Given the description of an element on the screen output the (x, y) to click on. 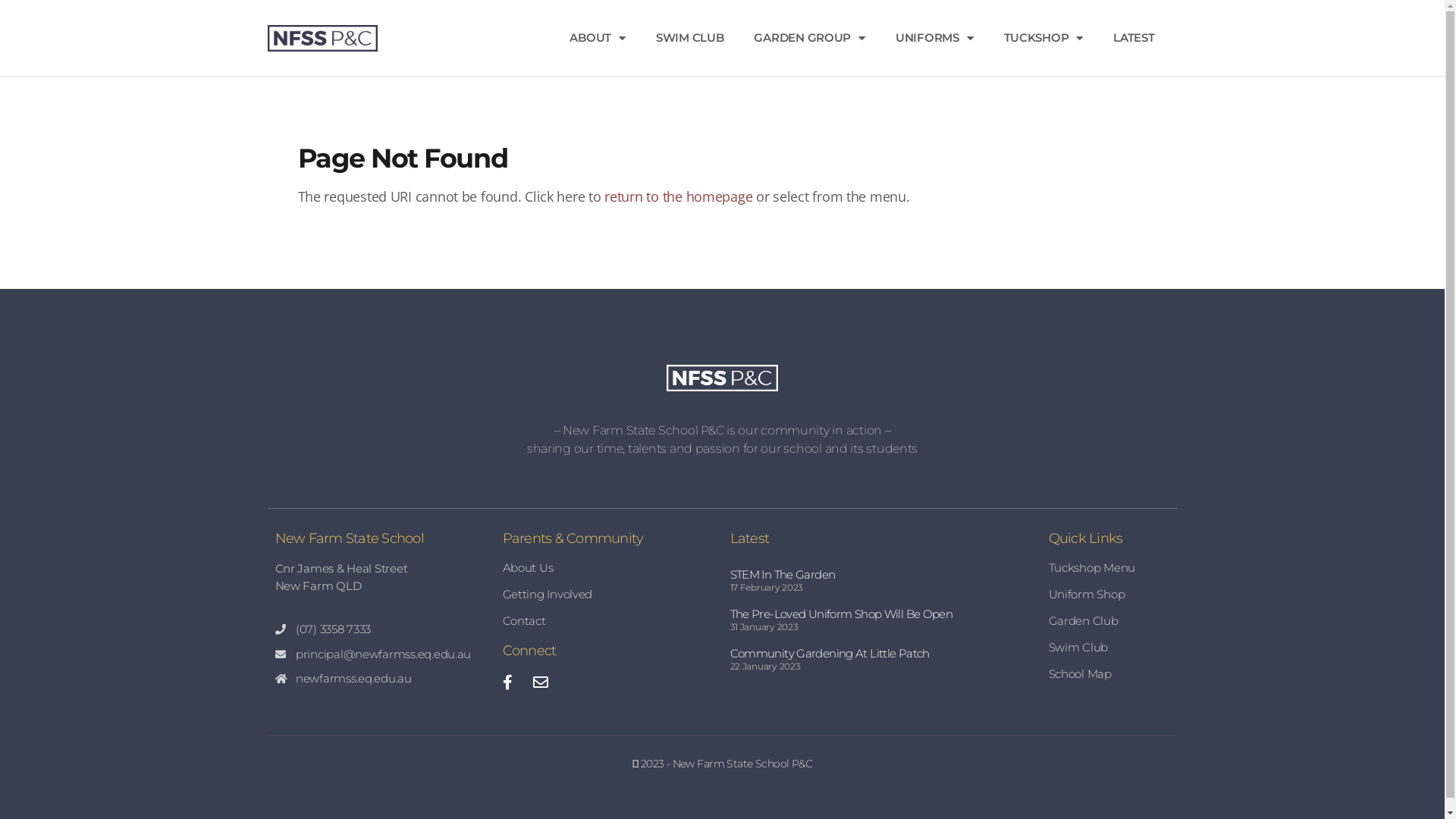
Tuckshop Menu Element type: text (1108, 567)
SWIM CLUB Element type: text (689, 37)
principal@newfarmss.eq.edu.au Element type: text (380, 654)
Uniform Shop Element type: text (1108, 594)
GARDEN GROUP Element type: text (809, 37)
LATEST Element type: text (1133, 37)
ABOUT Element type: text (597, 37)
Getting Involved Element type: text (608, 594)
newfarmss.eq.edu.au Element type: text (380, 678)
Community Gardening At Little Patch Element type: text (828, 653)
STEM In The Garden Element type: text (781, 574)
TUCKSHOP Element type: text (1043, 37)
The Pre-Loved Uniform Shop Will Be Open Element type: text (840, 613)
About Us Element type: text (608, 567)
(07) 3358 7333 Element type: text (380, 629)
Garden Club Element type: text (1108, 620)
UNIFORMS Element type: text (934, 37)
return to the homepage Element type: text (678, 196)
Swim Club Element type: text (1108, 647)
School Map Element type: text (1108, 673)
Contact Element type: text (608, 620)
